Given the description of an element on the screen output the (x, y) to click on. 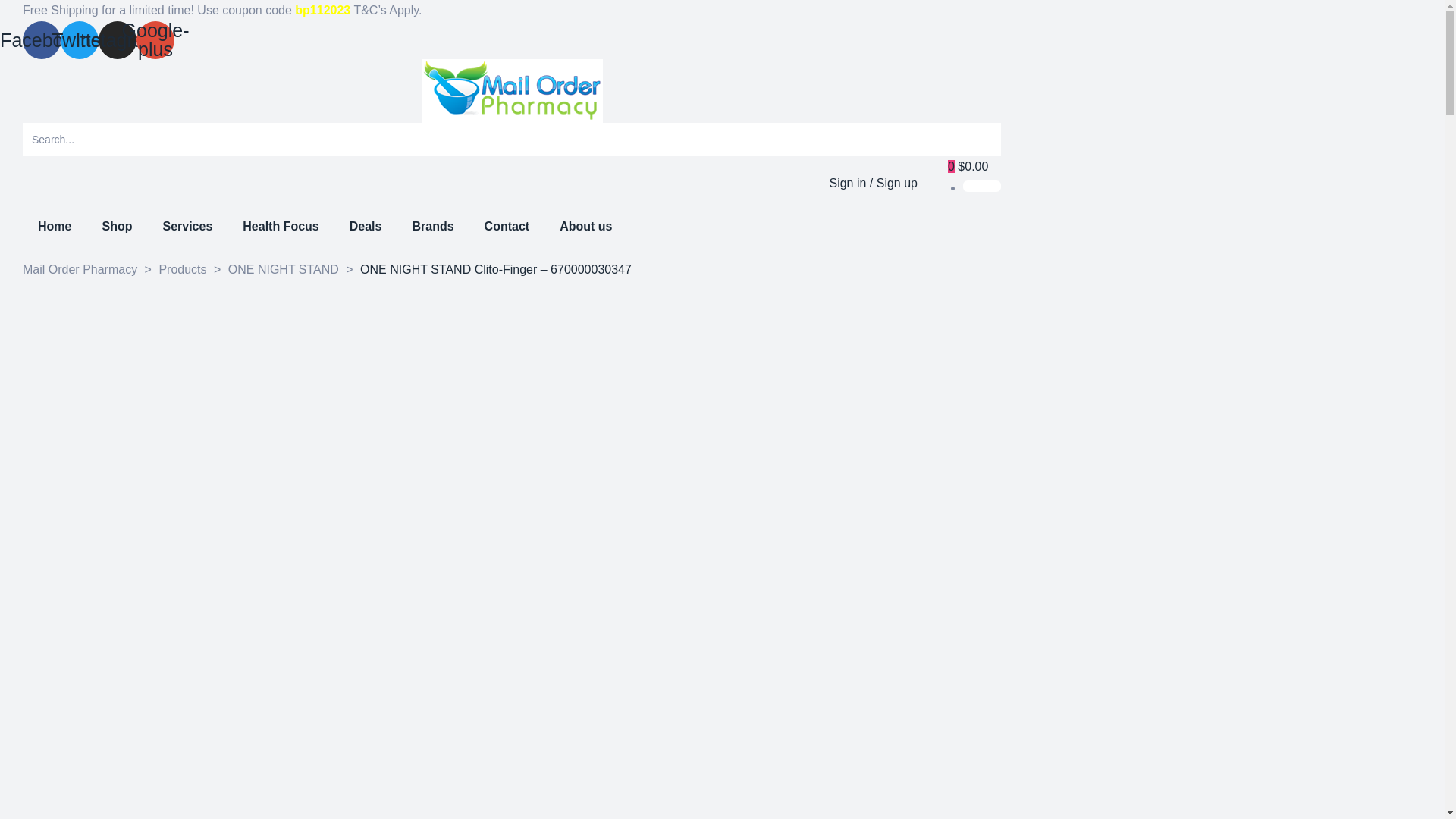
Home Element type: text (54, 226)
Twitter Element type: text (79, 40)
Search Element type: hover (492, 139)
Google-plus Element type: text (155, 40)
Contact Element type: text (507, 226)
Sign in / Sign up Element type: text (872, 183)
Shop Element type: text (116, 226)
About us Element type: text (585, 226)
ONE NIGHT STAND Element type: text (283, 269)
Deals Element type: text (365, 226)
Mail Order Pharmacy Element type: text (79, 269)
Brands Element type: text (432, 226)
Health Focus Element type: text (280, 226)
Facebook Element type: text (41, 40)
Products Element type: text (182, 269)
Instagram Element type: text (117, 40)
0 $0.00 Element type: text (967, 166)
Services Element type: text (187, 226)
